Given the description of an element on the screen output the (x, y) to click on. 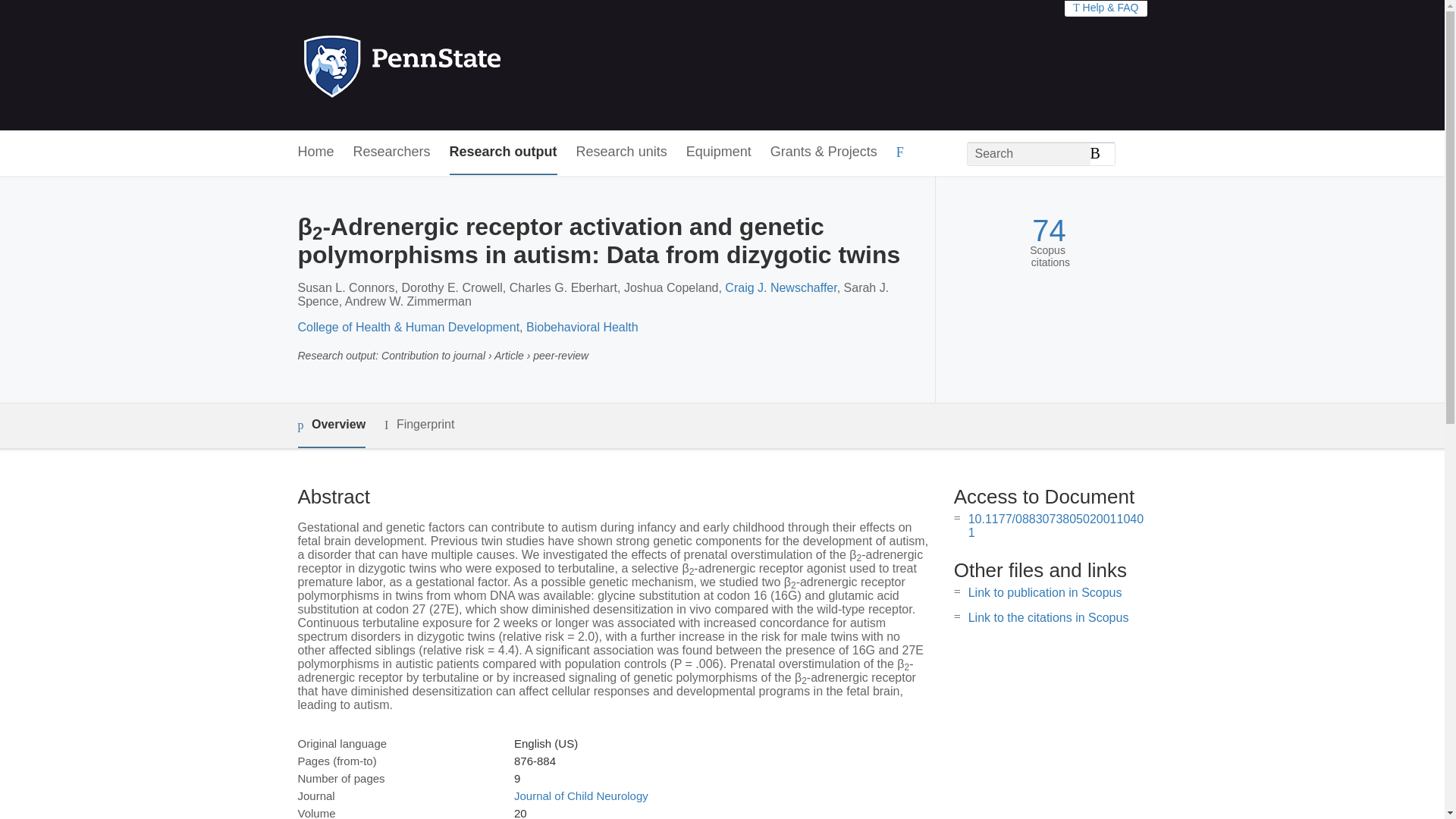
Fingerprint (419, 424)
Researchers (391, 152)
Link to the citations in Scopus (1048, 617)
Craig J. Newschaffer (780, 287)
Biobehavioral Health (582, 327)
Link to publication in Scopus (1045, 592)
Overview (331, 425)
Journal of Child Neurology (580, 795)
Equipment (718, 152)
Penn State Home (467, 65)
74 (1048, 230)
Research units (621, 152)
Research output (503, 152)
